Given the description of an element on the screen output the (x, y) to click on. 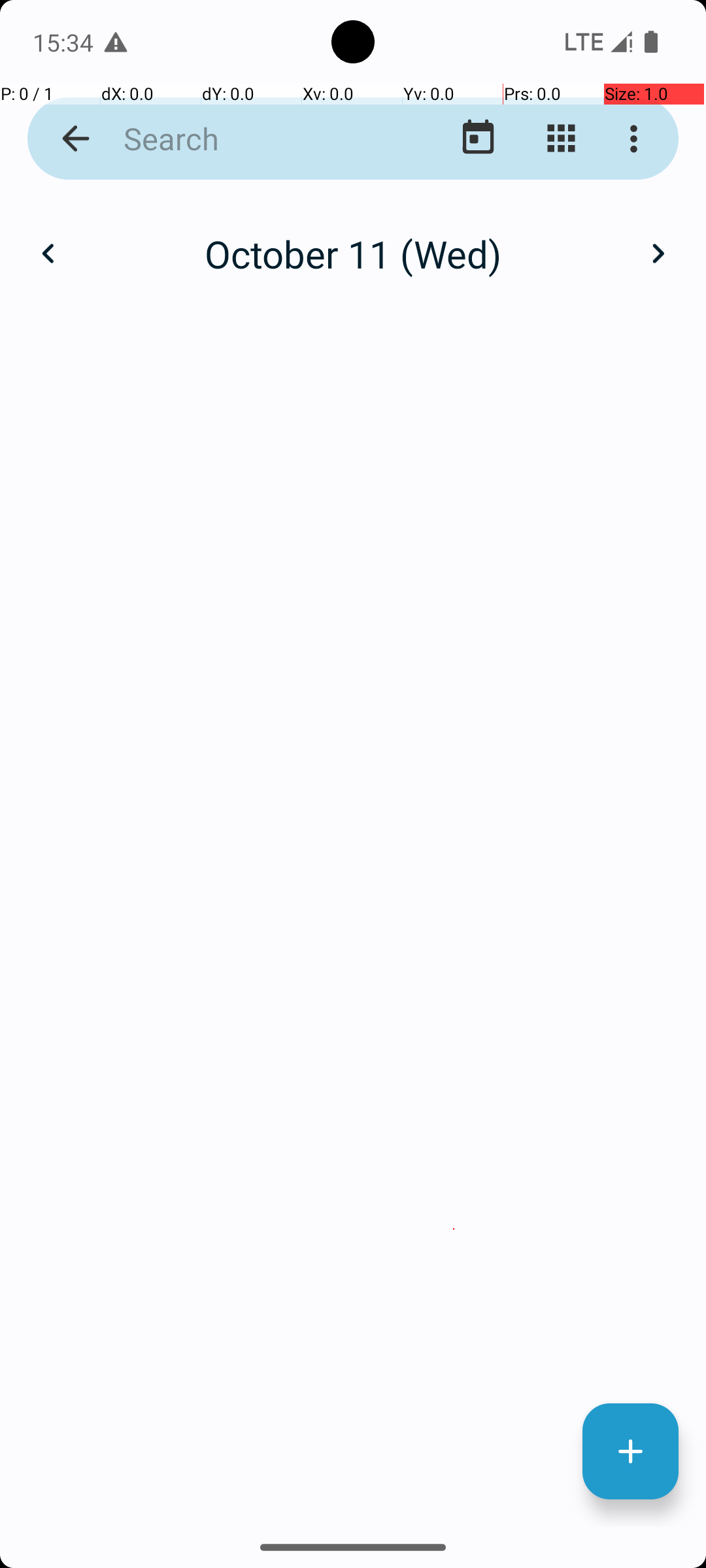
October 11 (Wed) Element type: android.widget.TextView (352, 253)
